Given the description of an element on the screen output the (x, y) to click on. 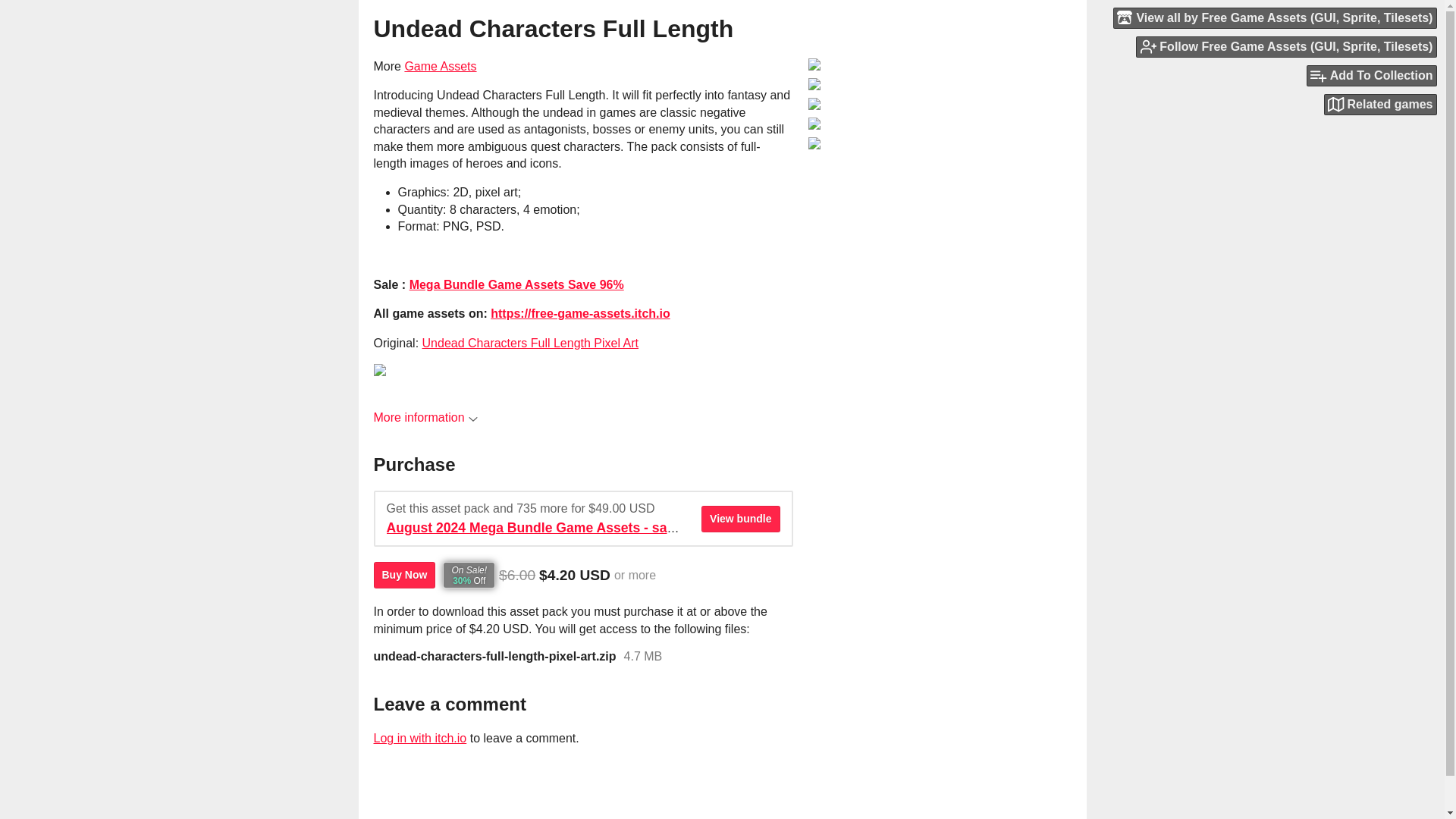
Game Assets (440, 65)
undead-characters-full-length-pixel-art.zip (493, 656)
More information (424, 417)
View bundle (739, 519)
Log in with itch.io (418, 738)
Related games (1380, 104)
Add To Collection (1371, 75)
Undead Characters Full Length Pixel Art (530, 342)
Buy Now (403, 574)
